Given the description of an element on the screen output the (x, y) to click on. 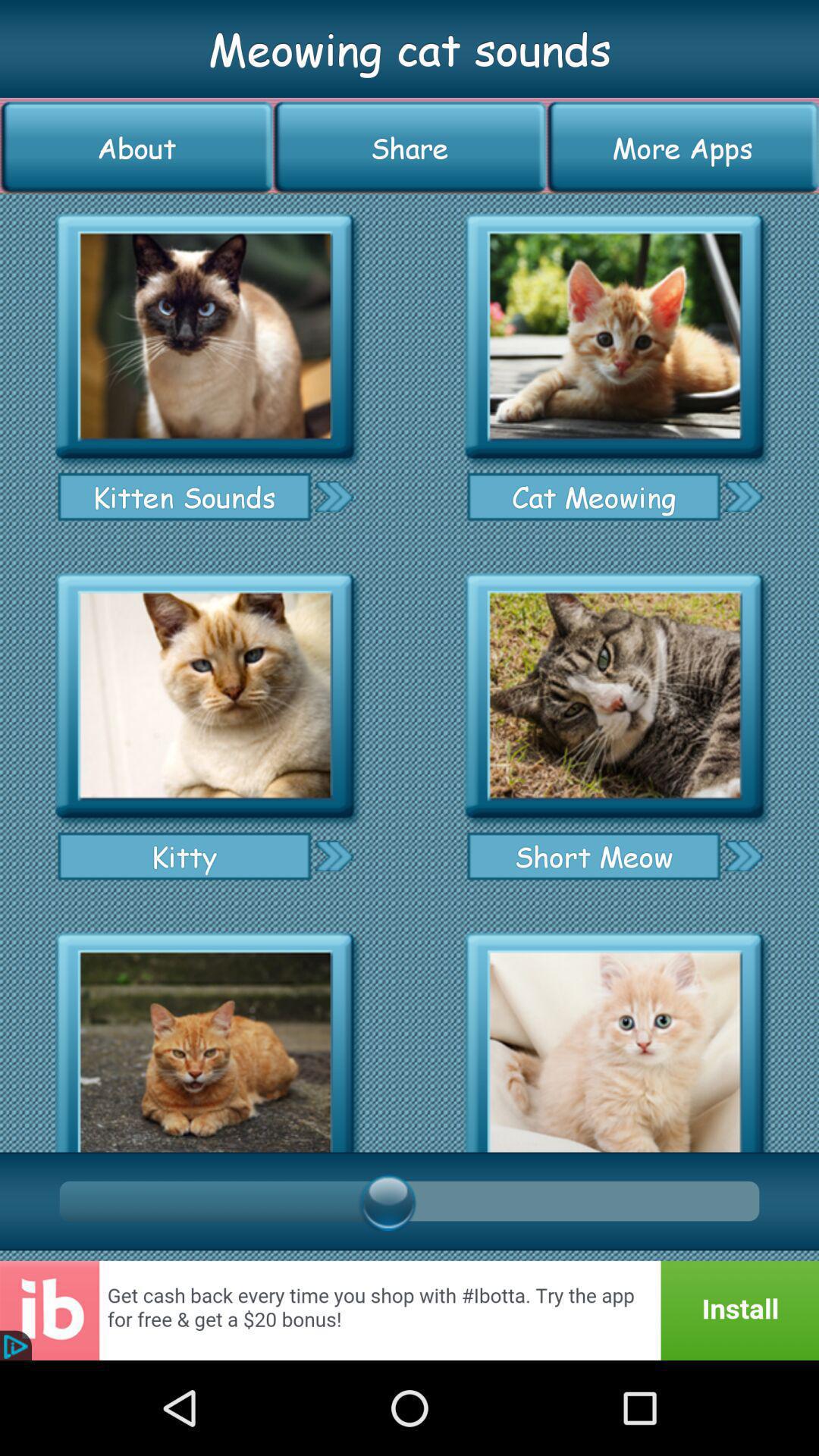
flip until short meow (593, 855)
